Given the description of an element on the screen output the (x, y) to click on. 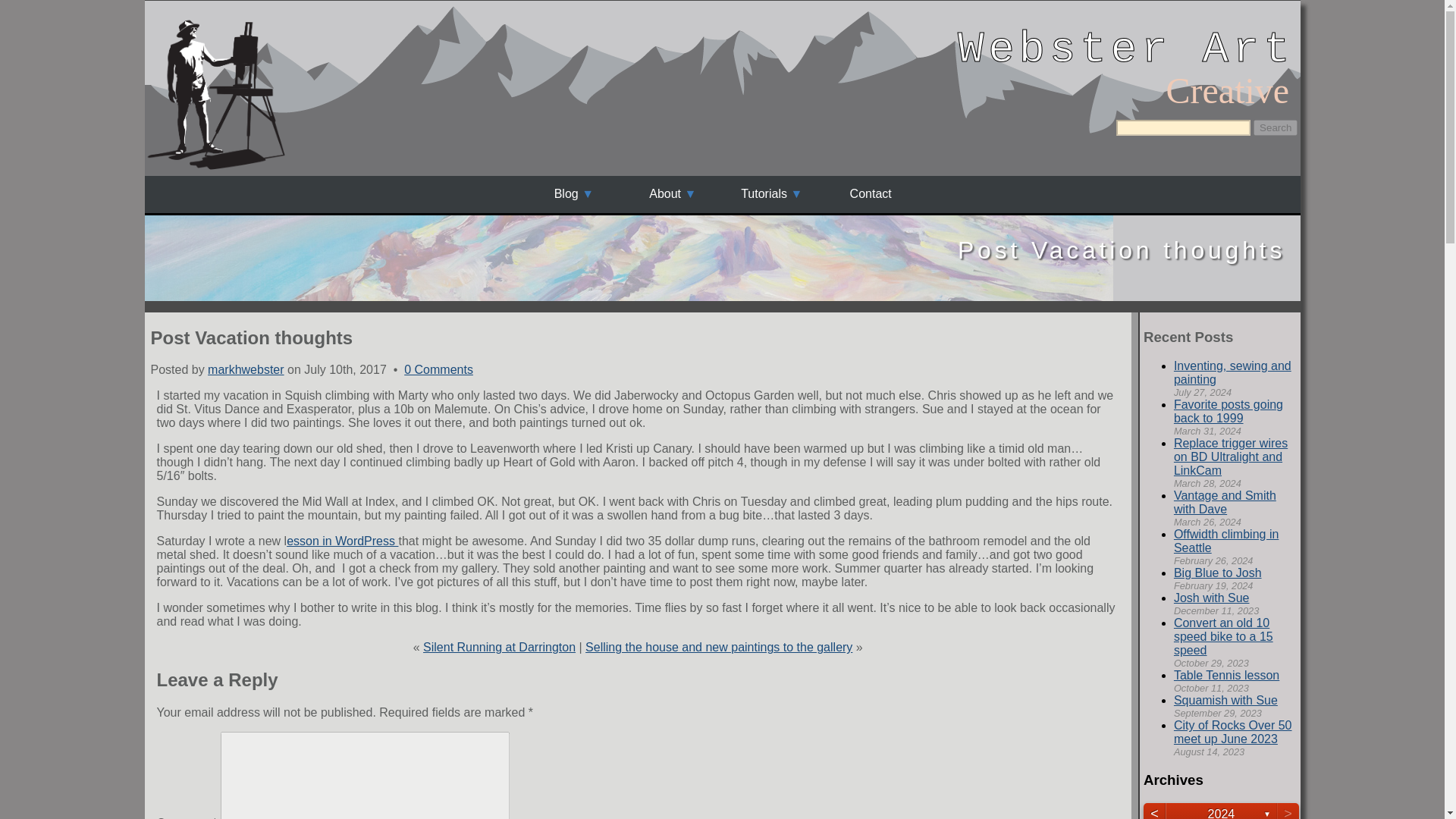
esson in WordPress (341, 540)
Blog (574, 194)
2024 (1221, 811)
Replace trigger wires on BD Ultralight and LinkCam (1230, 456)
Favorite posts going back to 1999 (1227, 411)
Table Tennis lesson (1226, 675)
0 Comments (438, 369)
markhwebster (245, 369)
Search (1275, 127)
Selling the house and new paintings to the gallery (718, 646)
